Given the description of an element on the screen output the (x, y) to click on. 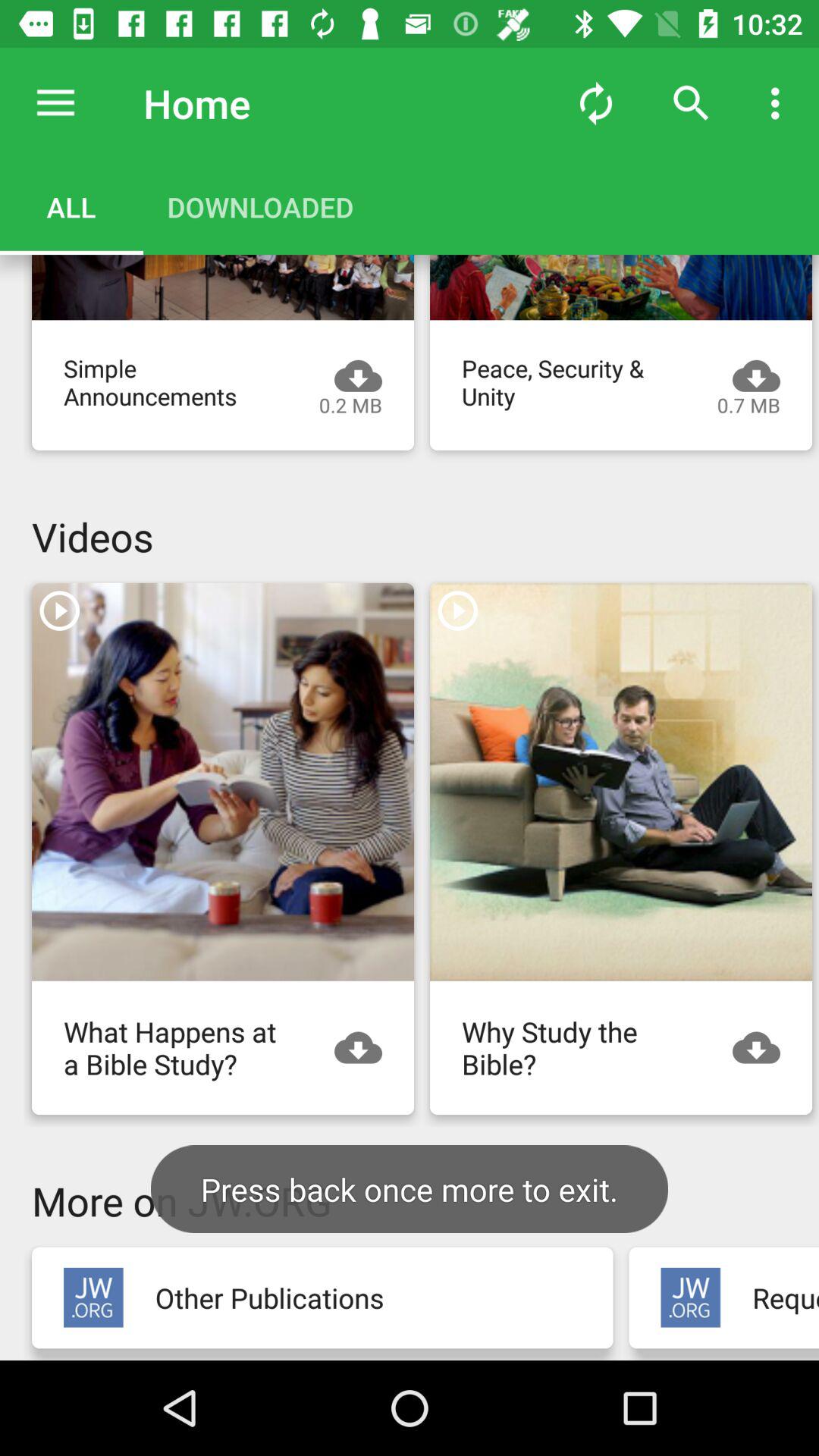
menu (55, 103)
